Given the description of an element on the screen output the (x, y) to click on. 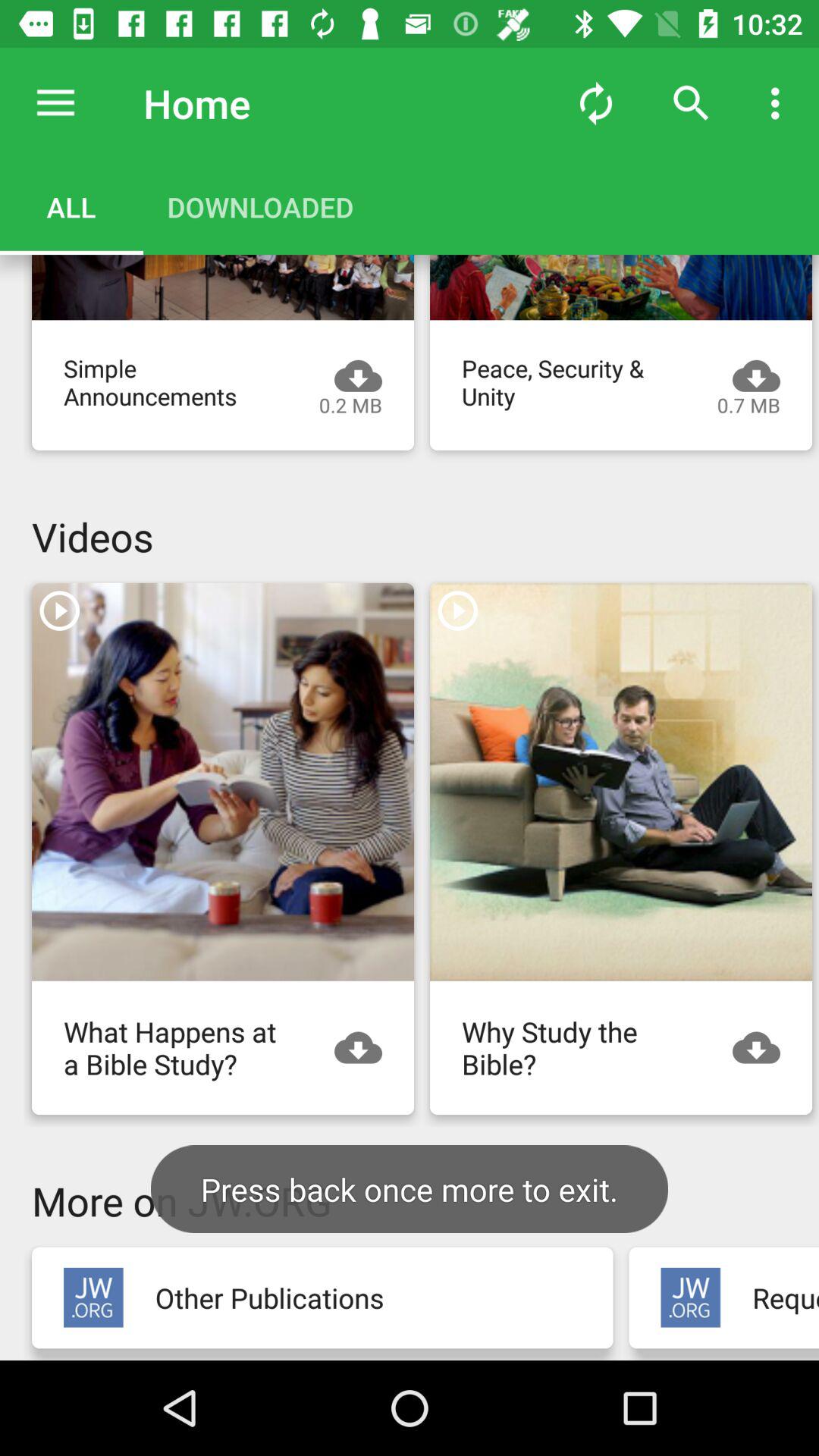
menu (55, 103)
